Given the description of an element on the screen output the (x, y) to click on. 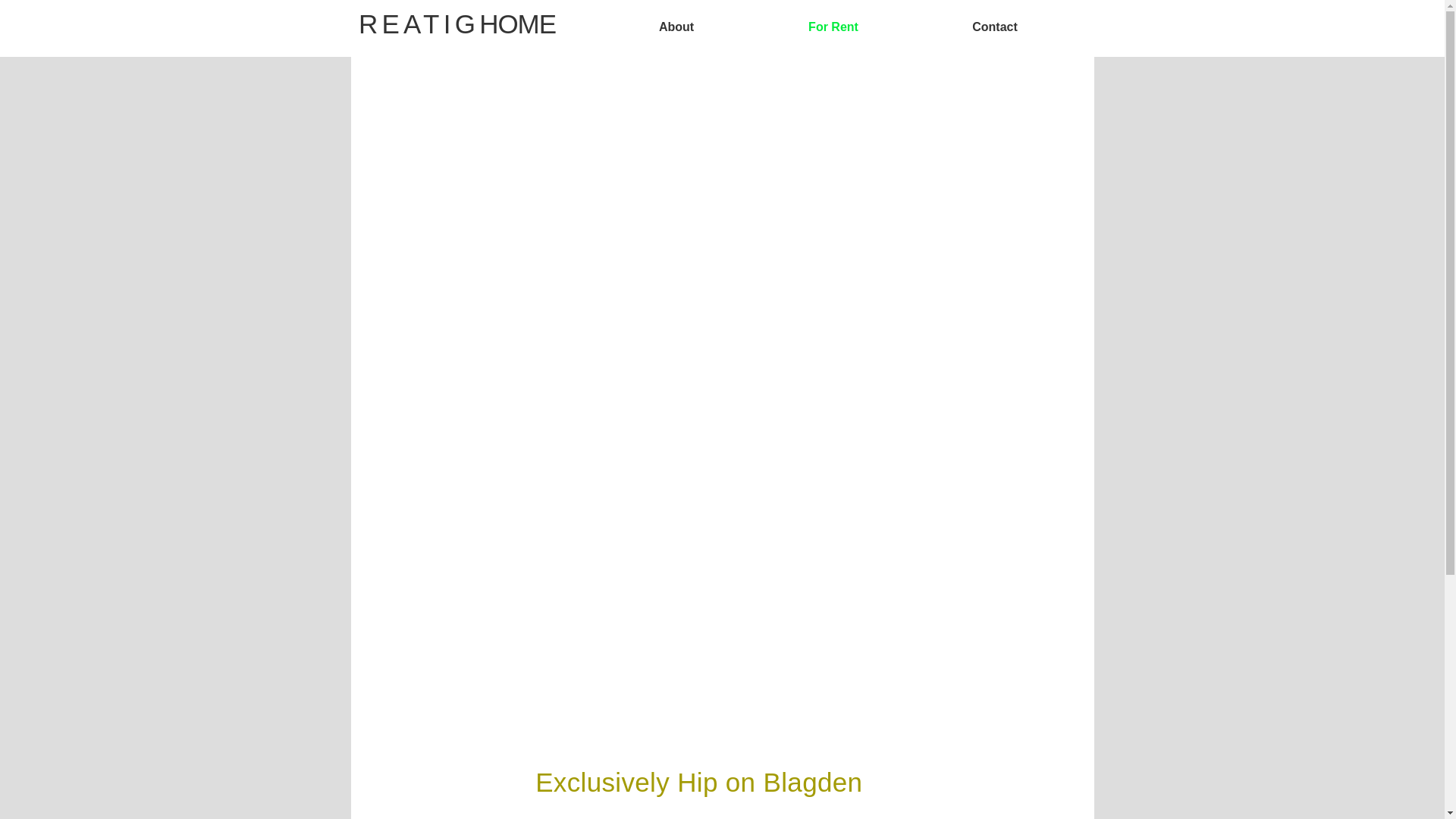
Contact (994, 27)
REATIGHOME (457, 23)
About (675, 27)
For Rent (833, 27)
